Given the description of an element on the screen output the (x, y) to click on. 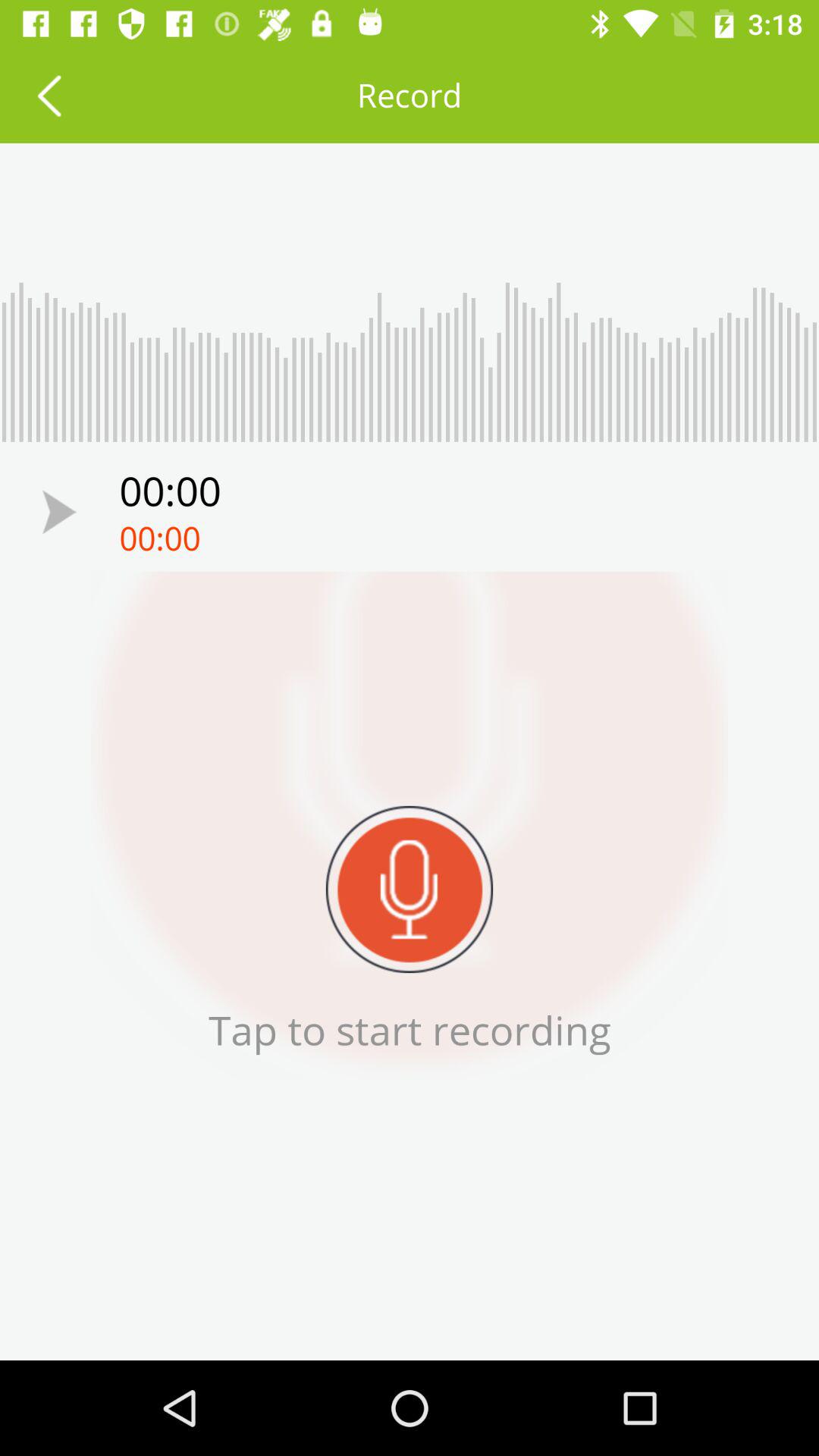
go back (48, 95)
